Given the description of an element on the screen output the (x, y) to click on. 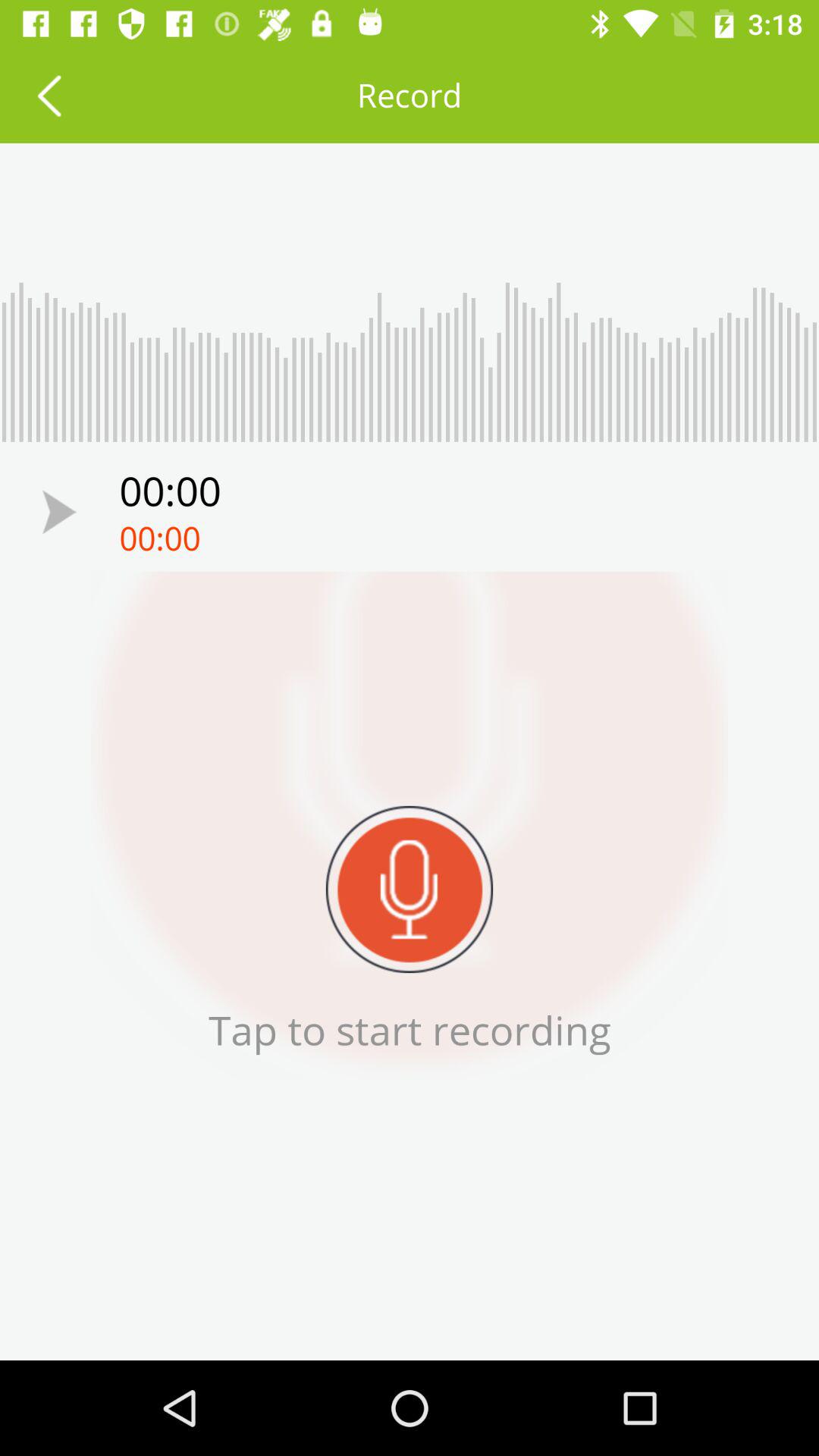
go back (48, 95)
